Given the description of an element on the screen output the (x, y) to click on. 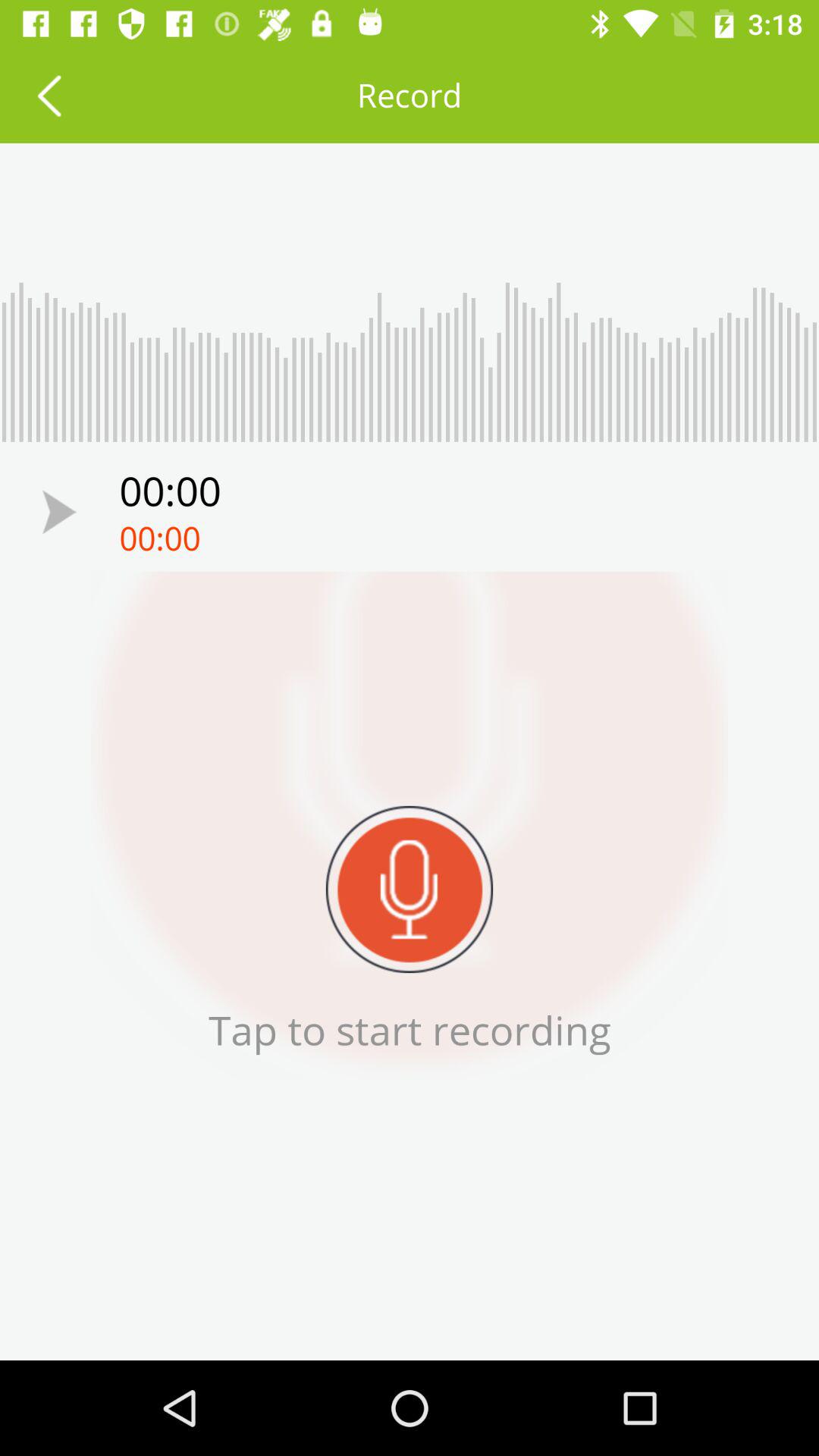
go back (48, 95)
